Given the description of an element on the screen output the (x, y) to click on. 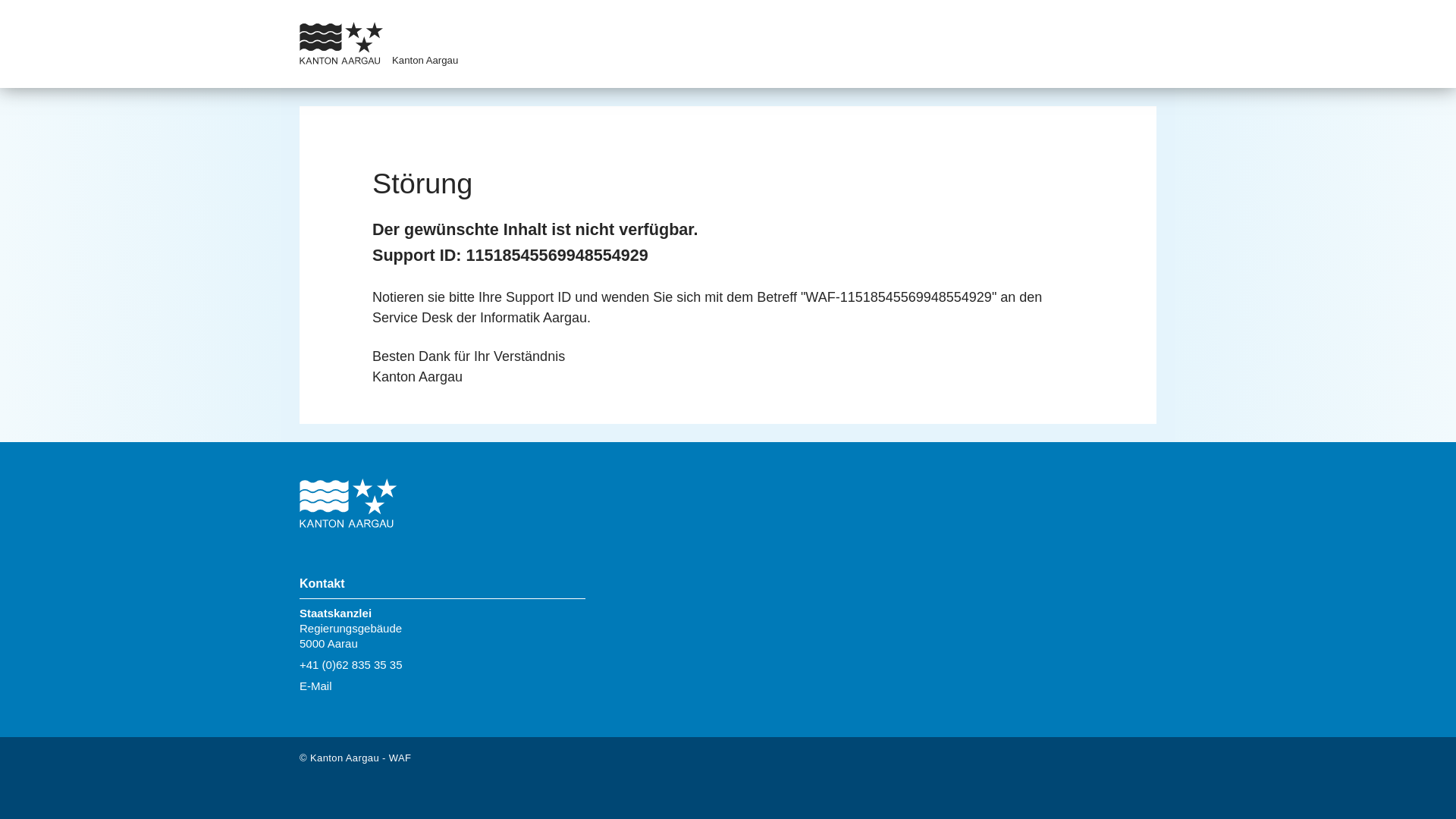
Kanton Aargau Logo Element type: text (347, 504)
E-Mail Element type: text (315, 685)
+41 (0)62 835 35 35 Element type: text (350, 664)
Kanton Aargau Element type: text (425, 59)
